Given the description of an element on the screen output the (x, y) to click on. 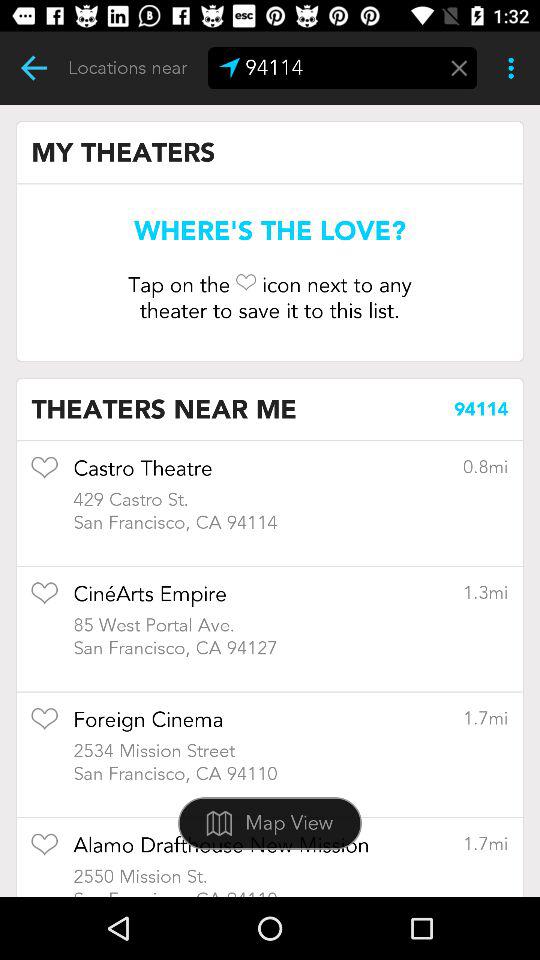
add to favorites (44, 599)
